Given the description of an element on the screen output the (x, y) to click on. 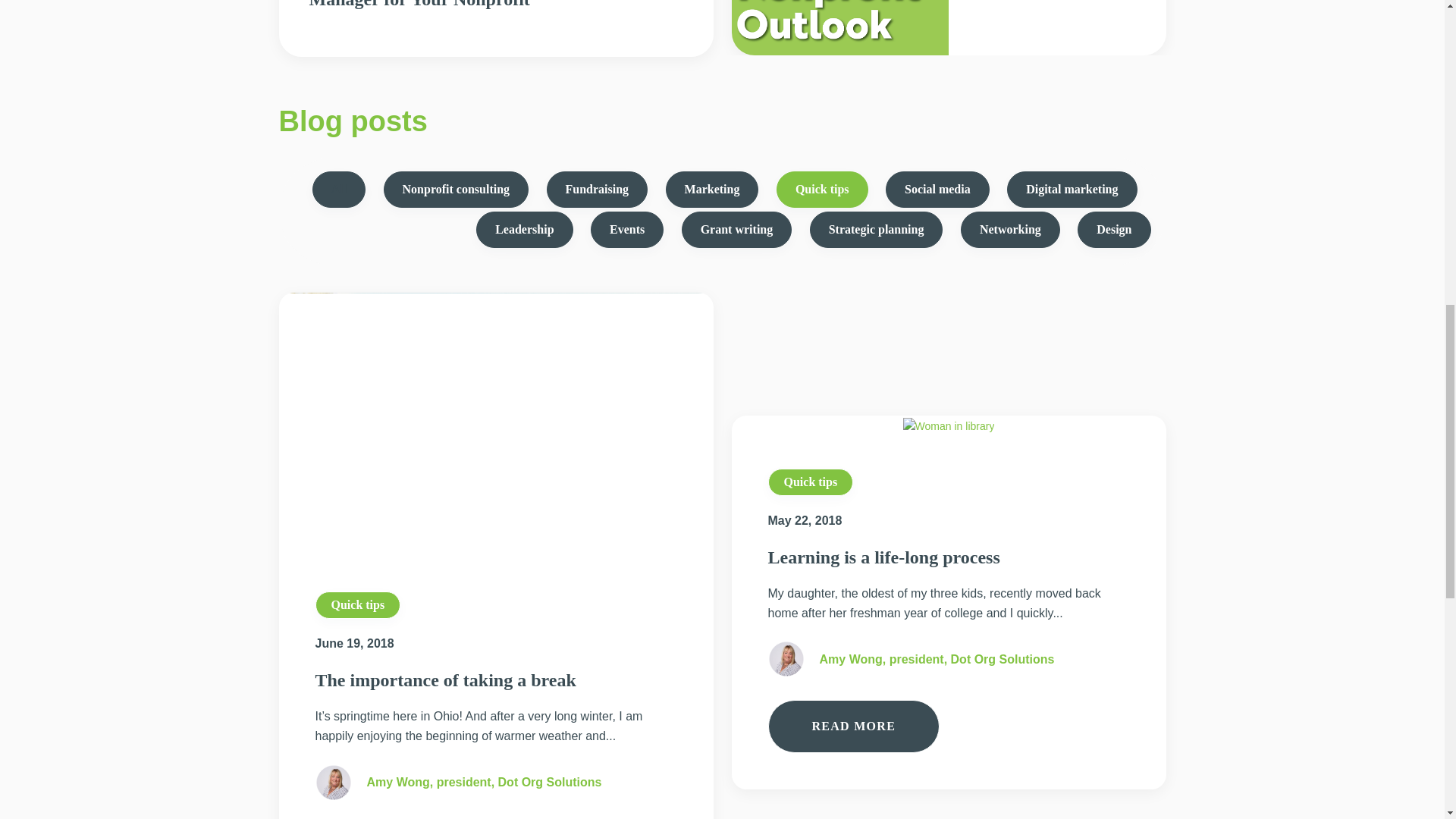
Digital marketing (1072, 189)
Nonprofit consulting (456, 189)
Quick tips (358, 605)
Social media (937, 189)
Leadership (524, 229)
Networking (1009, 229)
Events (627, 229)
Fundraising (597, 189)
Marketing (711, 189)
Grant writing (736, 229)
Quick tips (821, 189)
All (339, 189)
The importance of taking a break (445, 680)
Strategic planning (876, 229)
